Given the description of an element on the screen output the (x, y) to click on. 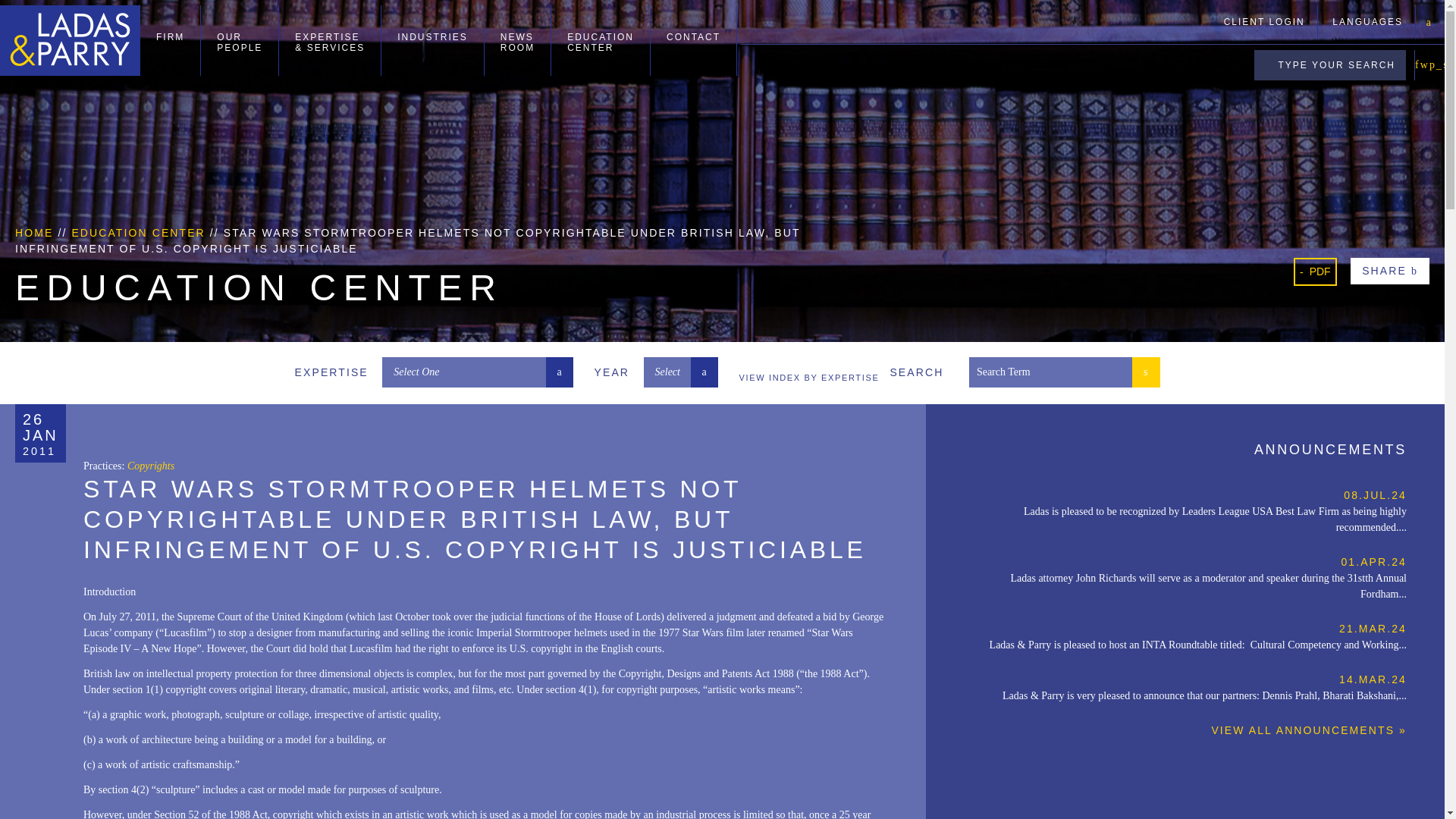
CONTACT (692, 40)
s (1146, 371)
CLIENT LOGIN (1264, 21)
INDUSTRIES (432, 40)
LANGUAGES (517, 40)
